Given the description of an element on the screen output the (x, y) to click on. 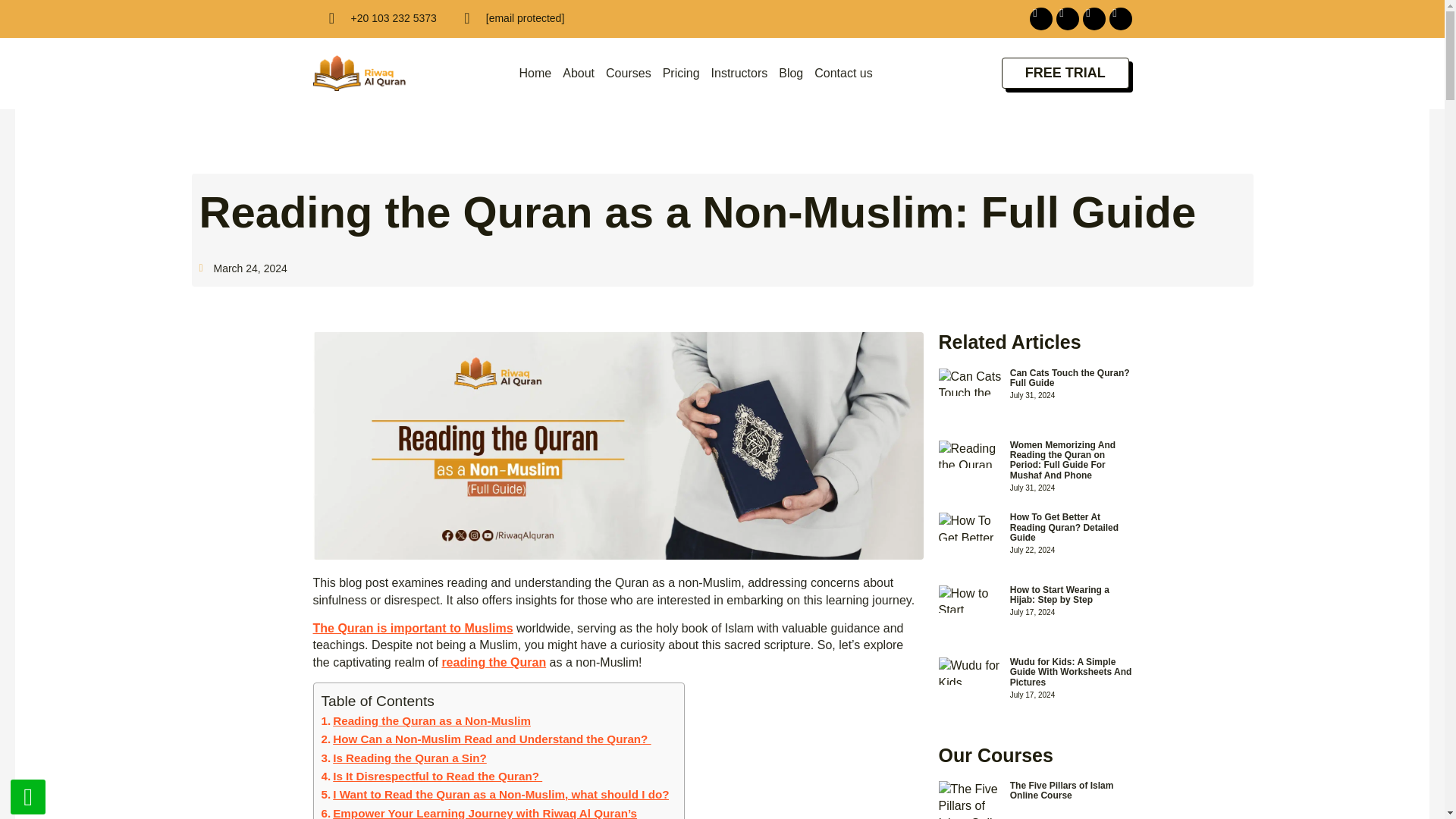
What Does the Quran Say About Reading the Quran? (493, 662)
About (578, 73)
Reading the Quran as a Non-Muslim (426, 720)
Twitter (1094, 18)
Instagram (1066, 18)
Is Reading the Quran a Sin? (403, 758)
Home (535, 73)
Courses (627, 73)
Youtube (1119, 18)
Facebook-f (1040, 18)
I Want to Read the Quran as a Non-Muslim, what should I do? (495, 794)
